Given the description of an element on the screen output the (x, y) to click on. 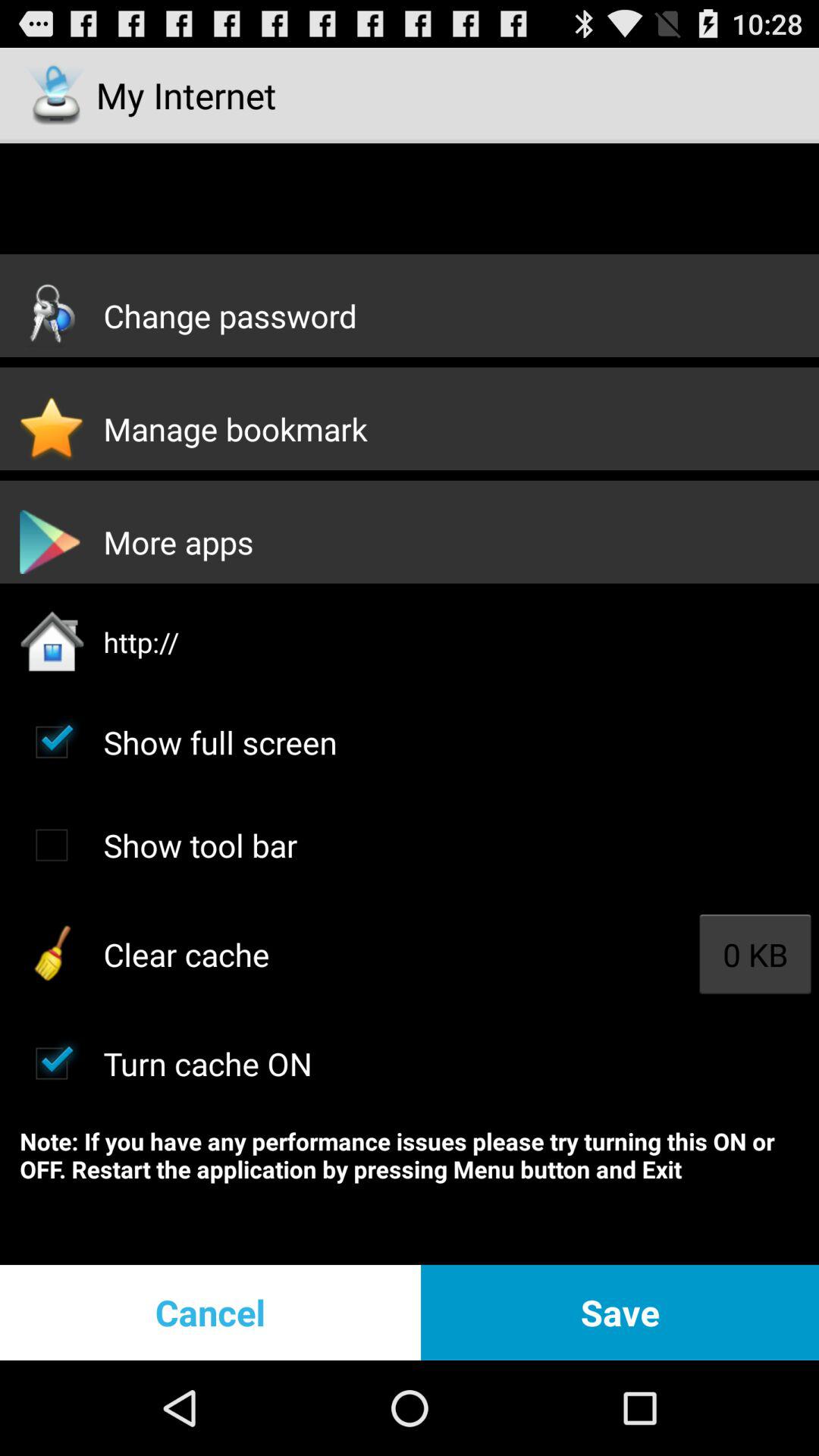
toggle on/off setting (51, 1063)
